Given the description of an element on the screen output the (x, y) to click on. 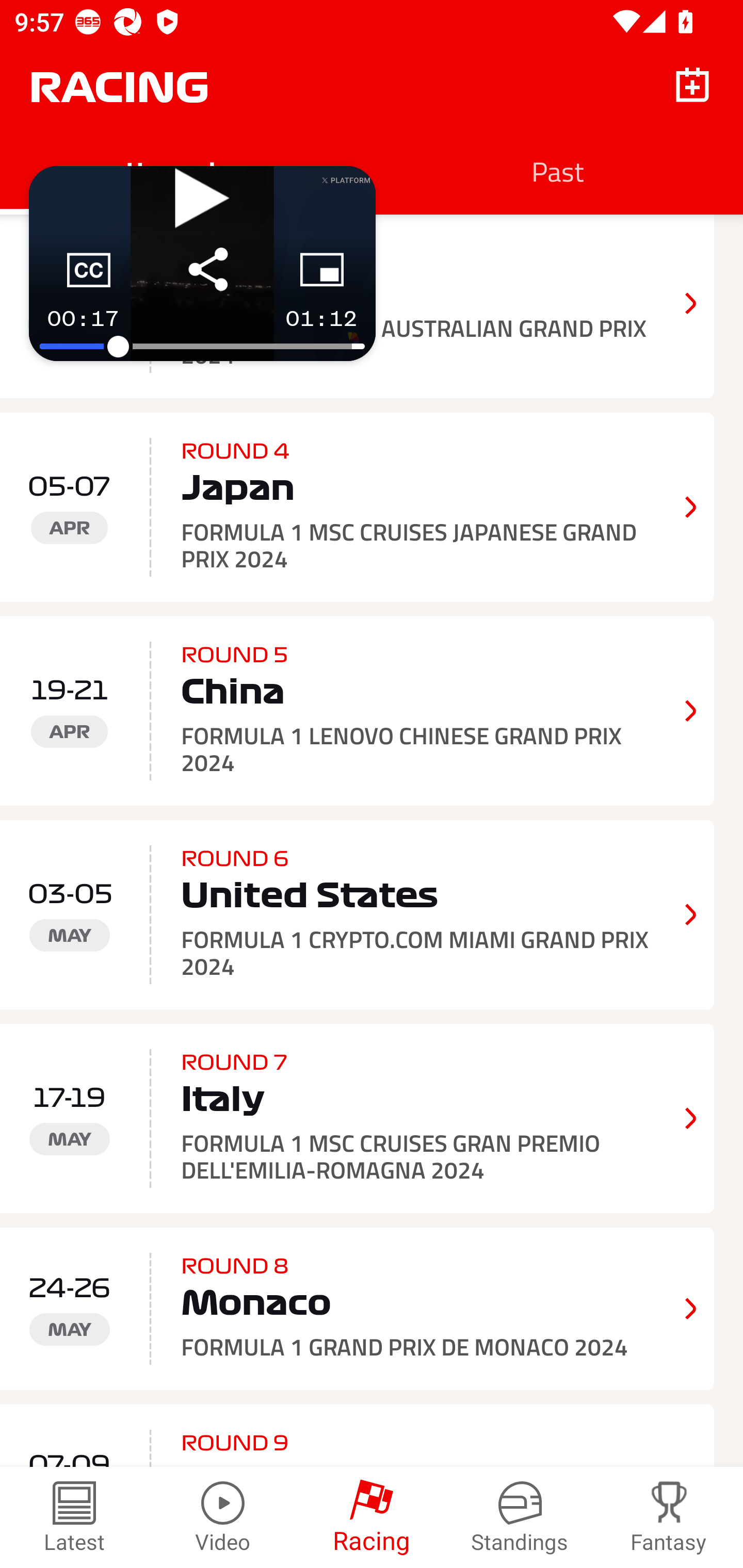
Past (557, 171)
Latest (74, 1517)
Video (222, 1517)
Standings (519, 1517)
Fantasy (668, 1517)
